Given the description of an element on the screen output the (x, y) to click on. 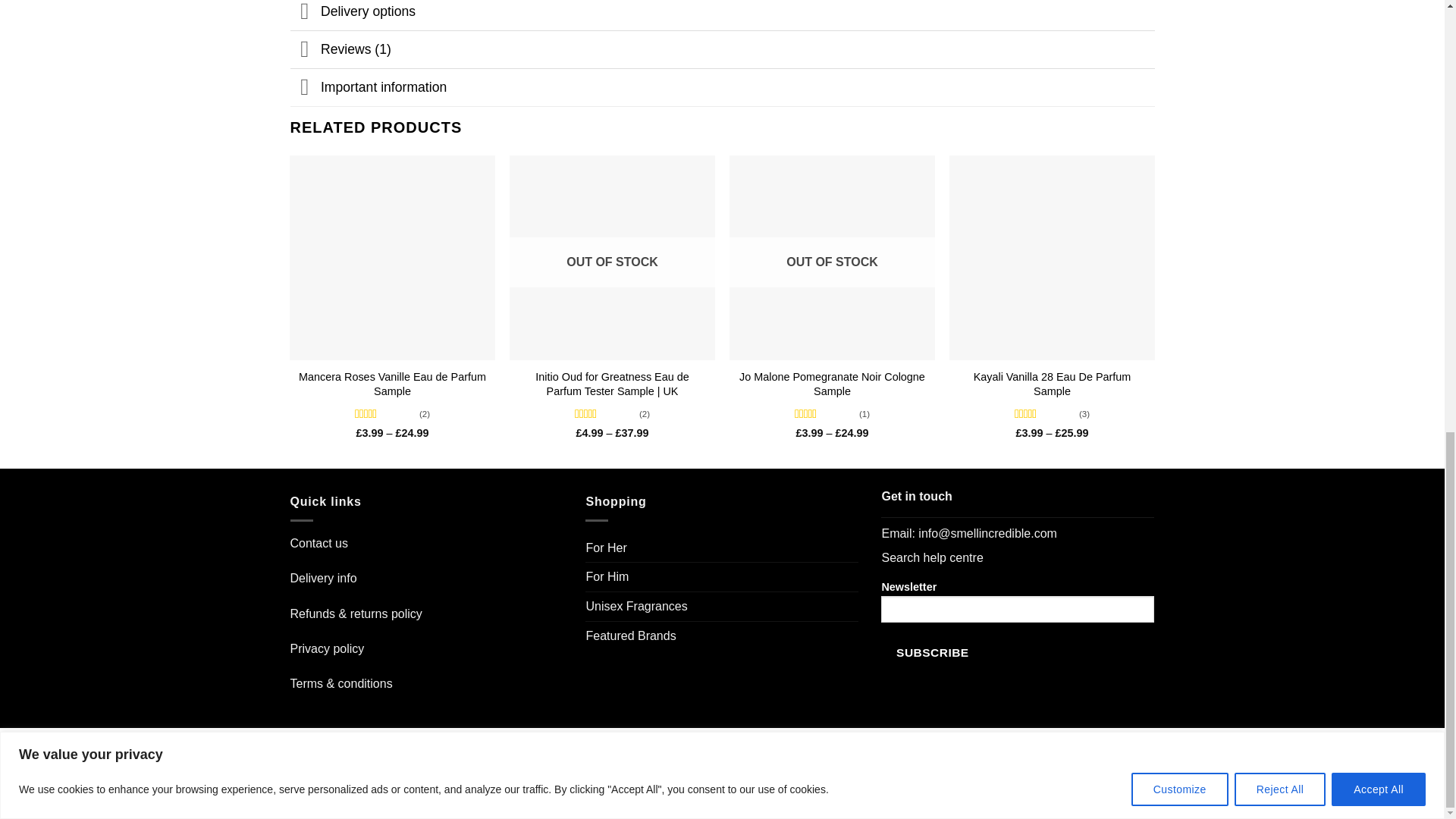
Subscribe (932, 652)
